Given the description of an element on the screen output the (x, y) to click on. 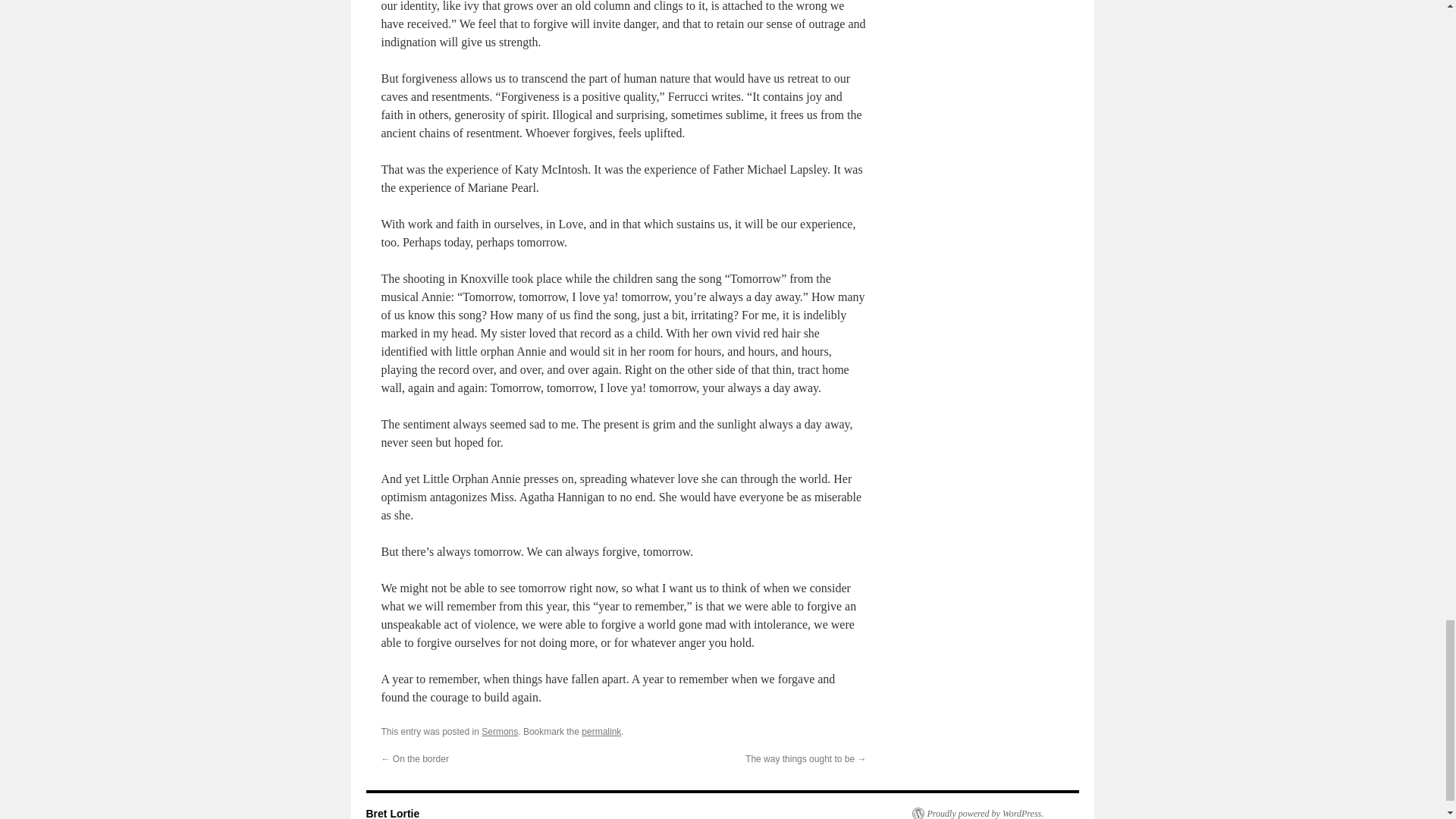
Sermons (499, 731)
permalink (600, 731)
